Given the description of an element on the screen output the (x, y) to click on. 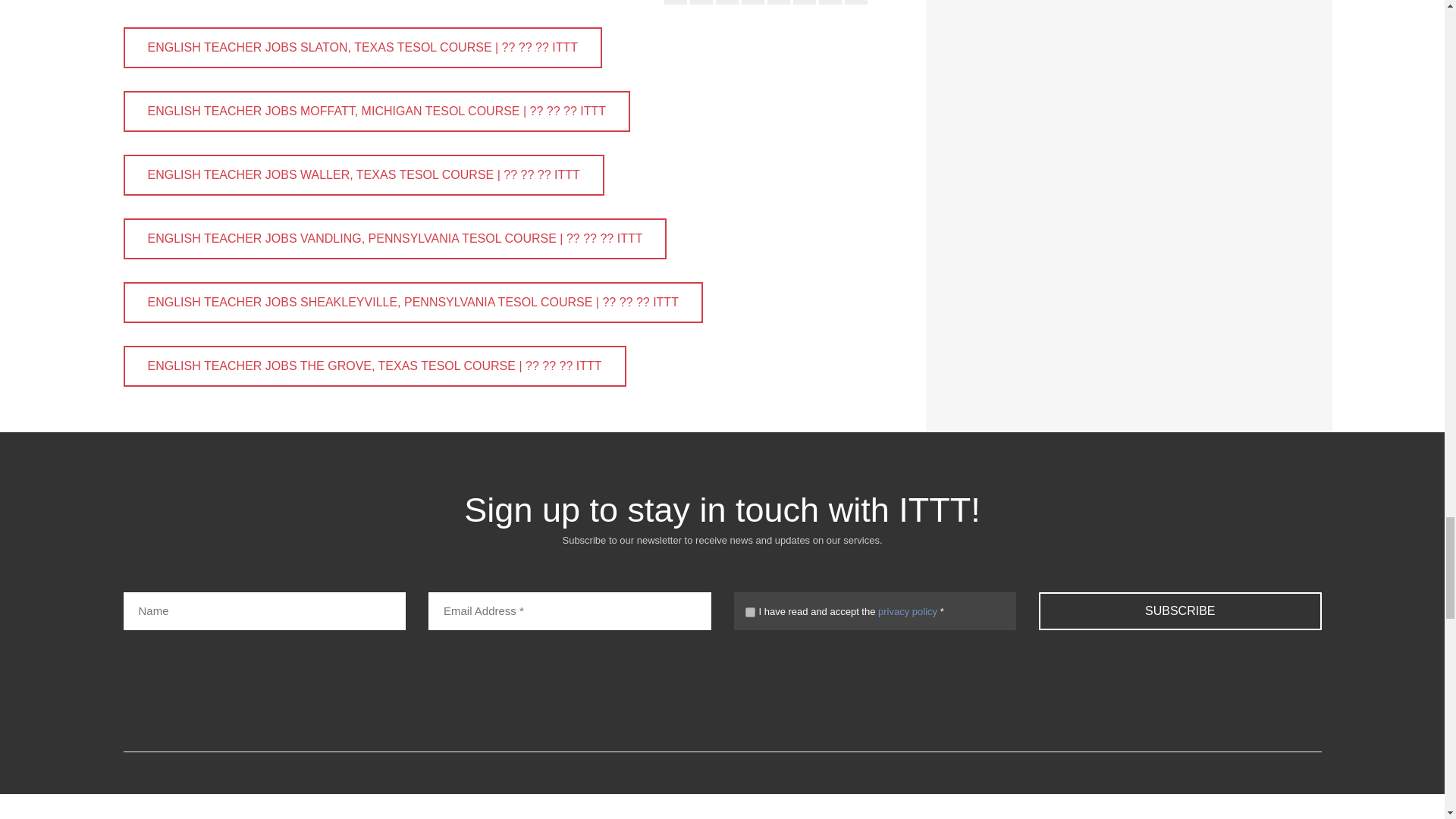
1 (749, 612)
